Given the description of an element on the screen output the (x, y) to click on. 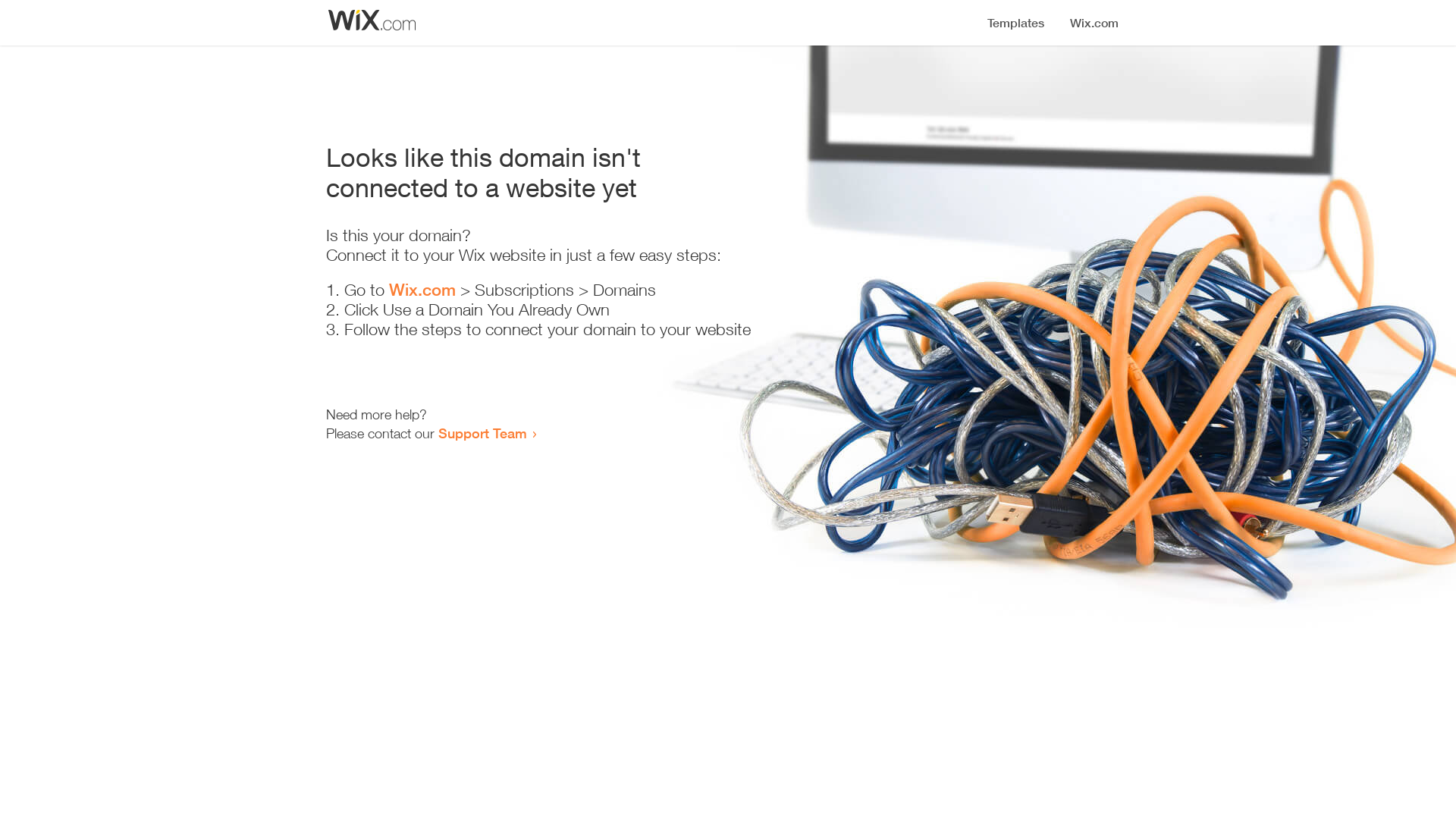
Wix.com Element type: text (422, 289)
Support Team Element type: text (482, 432)
